Given the description of an element on the screen output the (x, y) to click on. 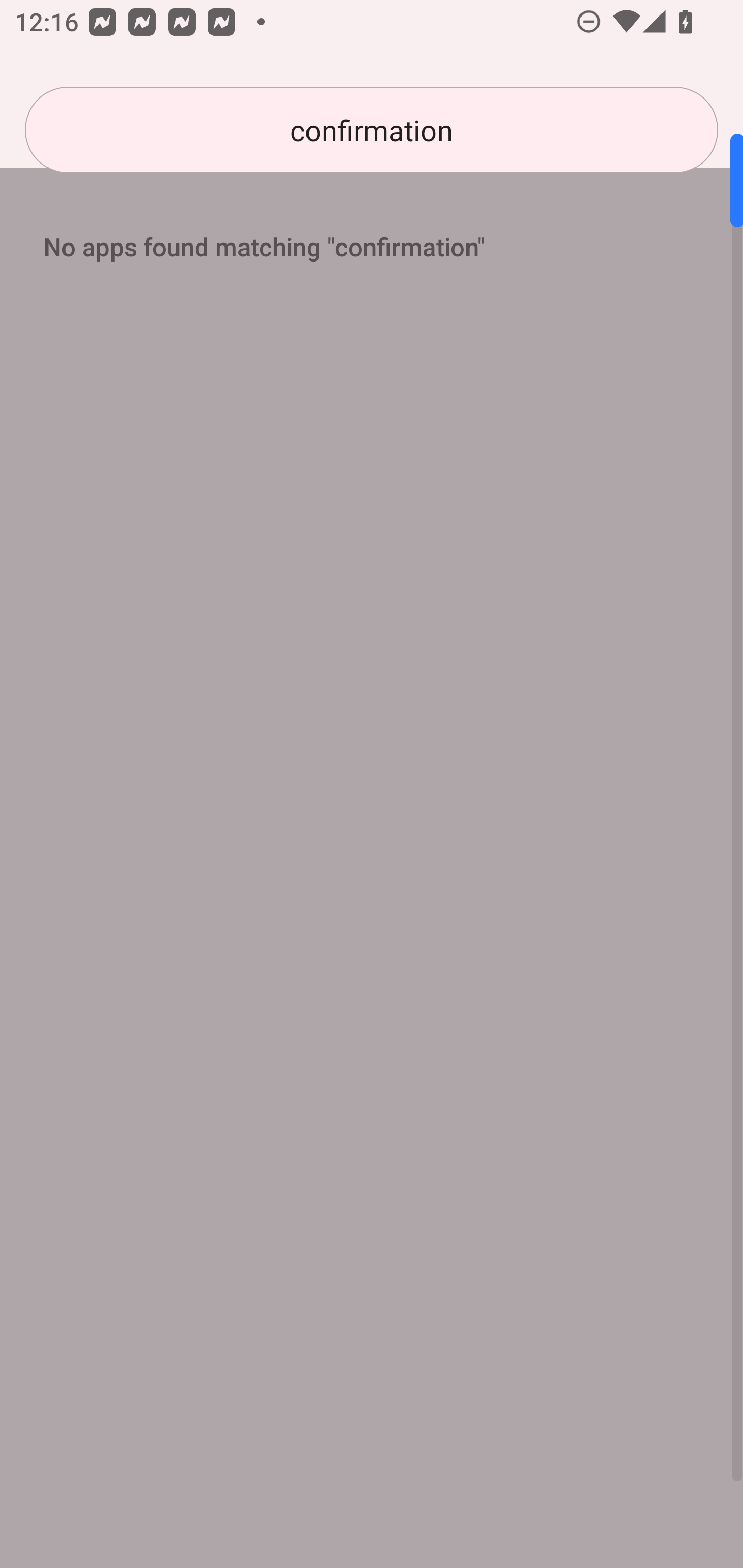
confirmation (371, 130)
